Given the description of an element on the screen output the (x, y) to click on. 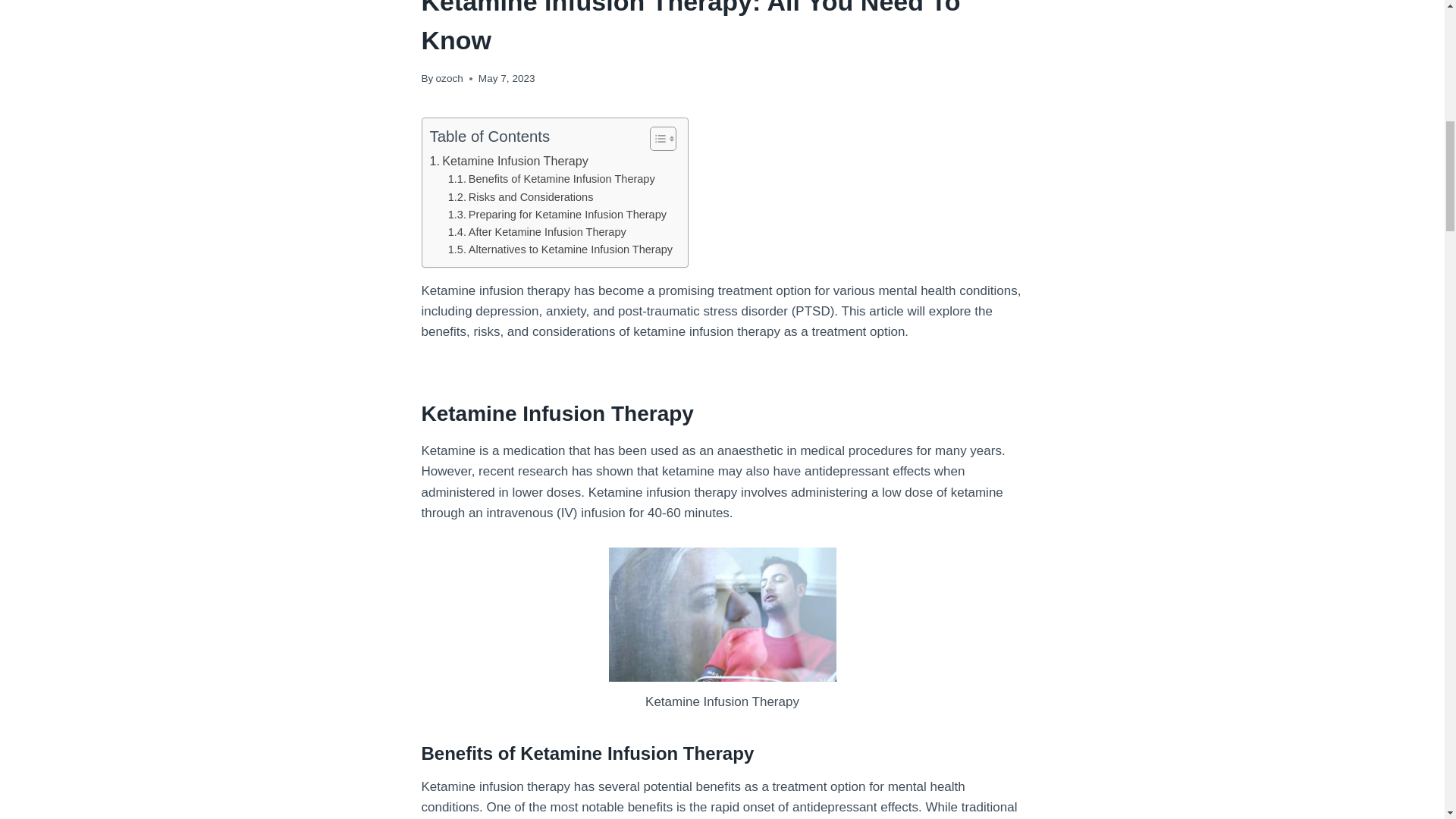
After Ketamine Infusion Therapy (537, 231)
Alternatives to Ketamine Infusion Therapy (560, 249)
Preparing for Ketamine Infusion Therapy (557, 214)
Alternatives to Ketamine Infusion Therapy (560, 249)
Risks and Considerations (521, 197)
Preparing for Ketamine Infusion Therapy (557, 214)
Benefits of Ketamine Infusion Therapy (551, 179)
Risks and Considerations (521, 197)
Ketamine Infusion Therapy (508, 161)
Benefits of Ketamine Infusion Therapy (551, 179)
